Given the description of an element on the screen output the (x, y) to click on. 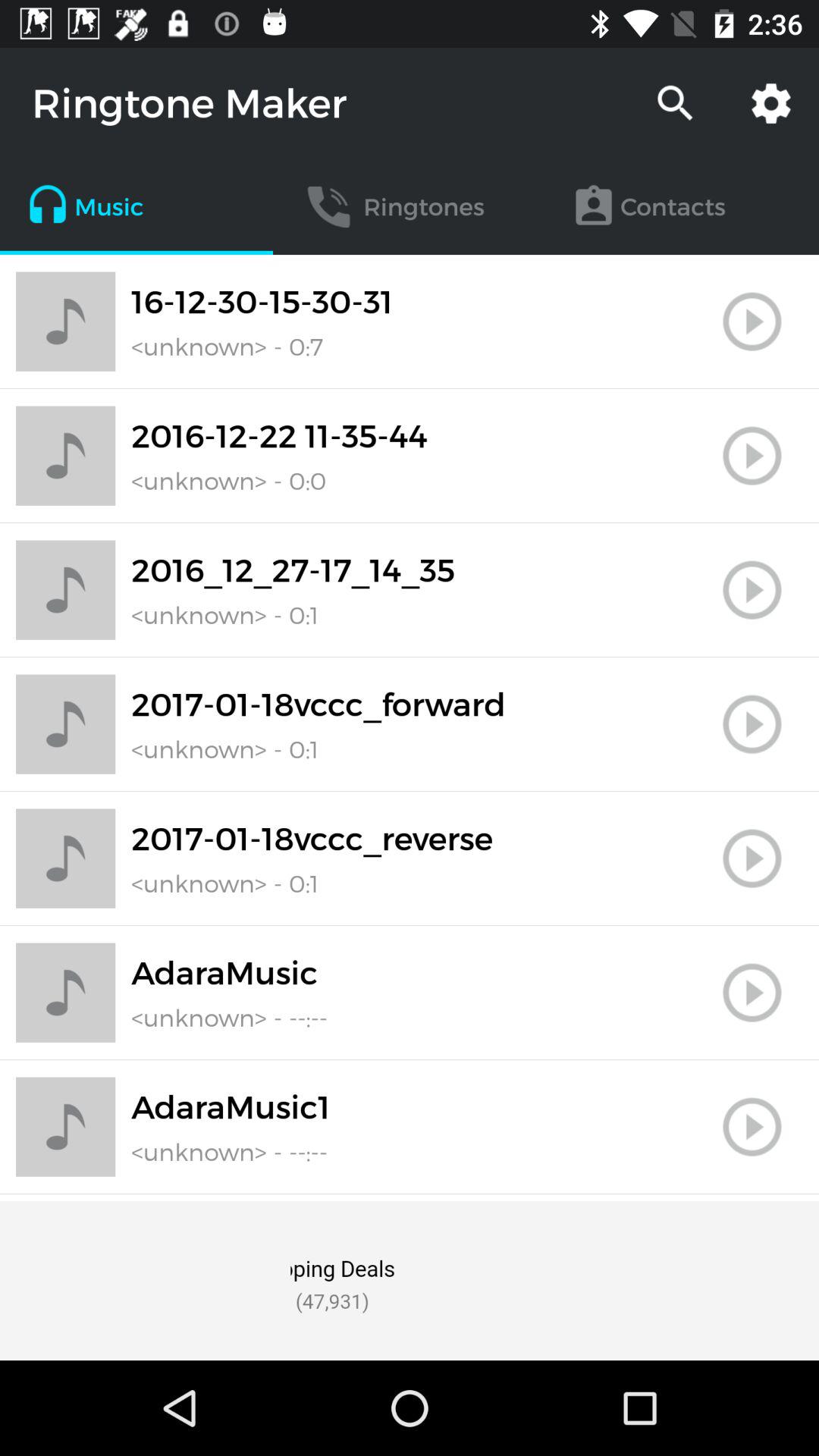
to play the ringtone (752, 858)
